Given the description of an element on the screen output the (x, y) to click on. 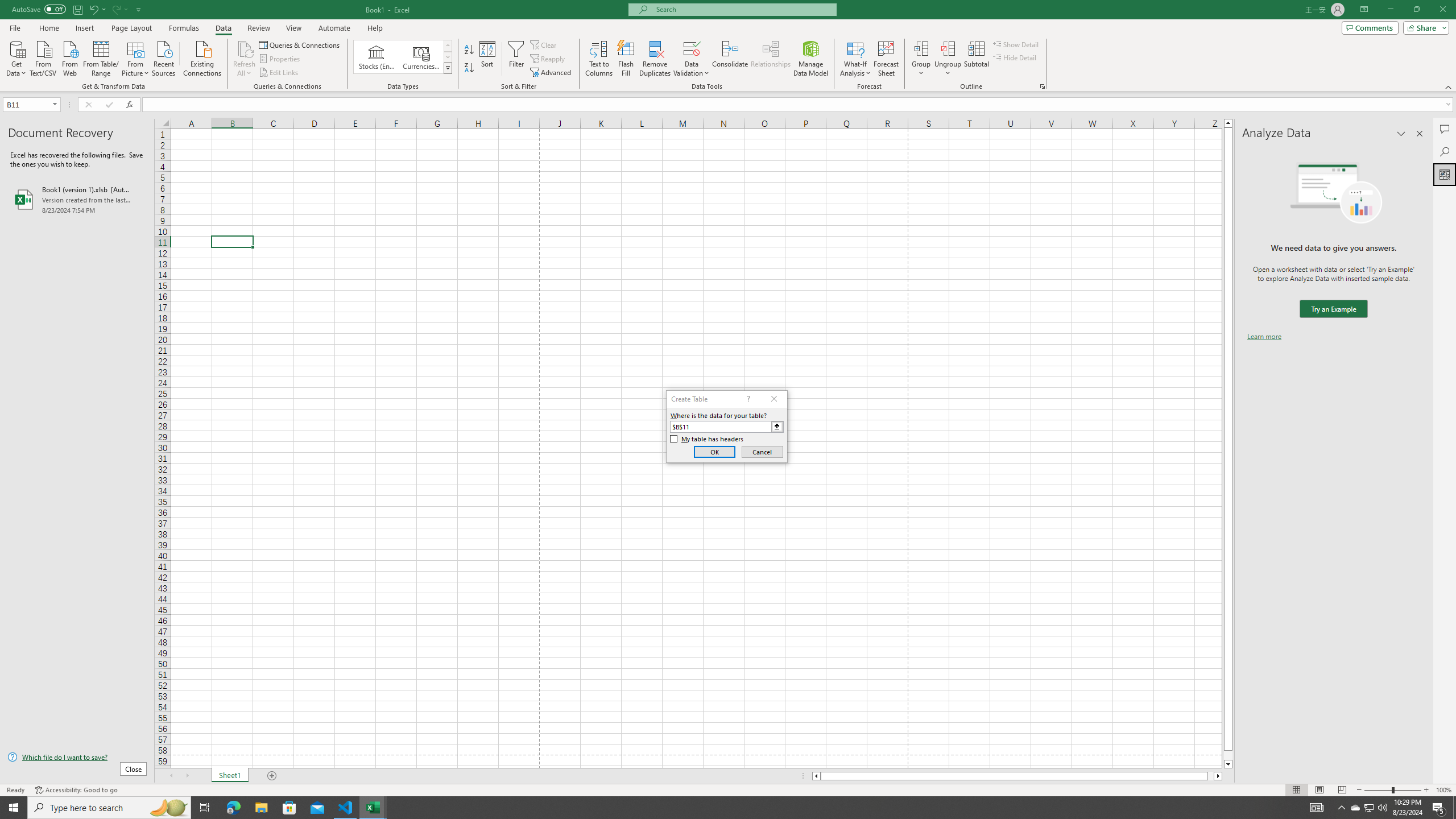
Consolidate... (729, 58)
